Given the description of an element on the screen output the (x, y) to click on. 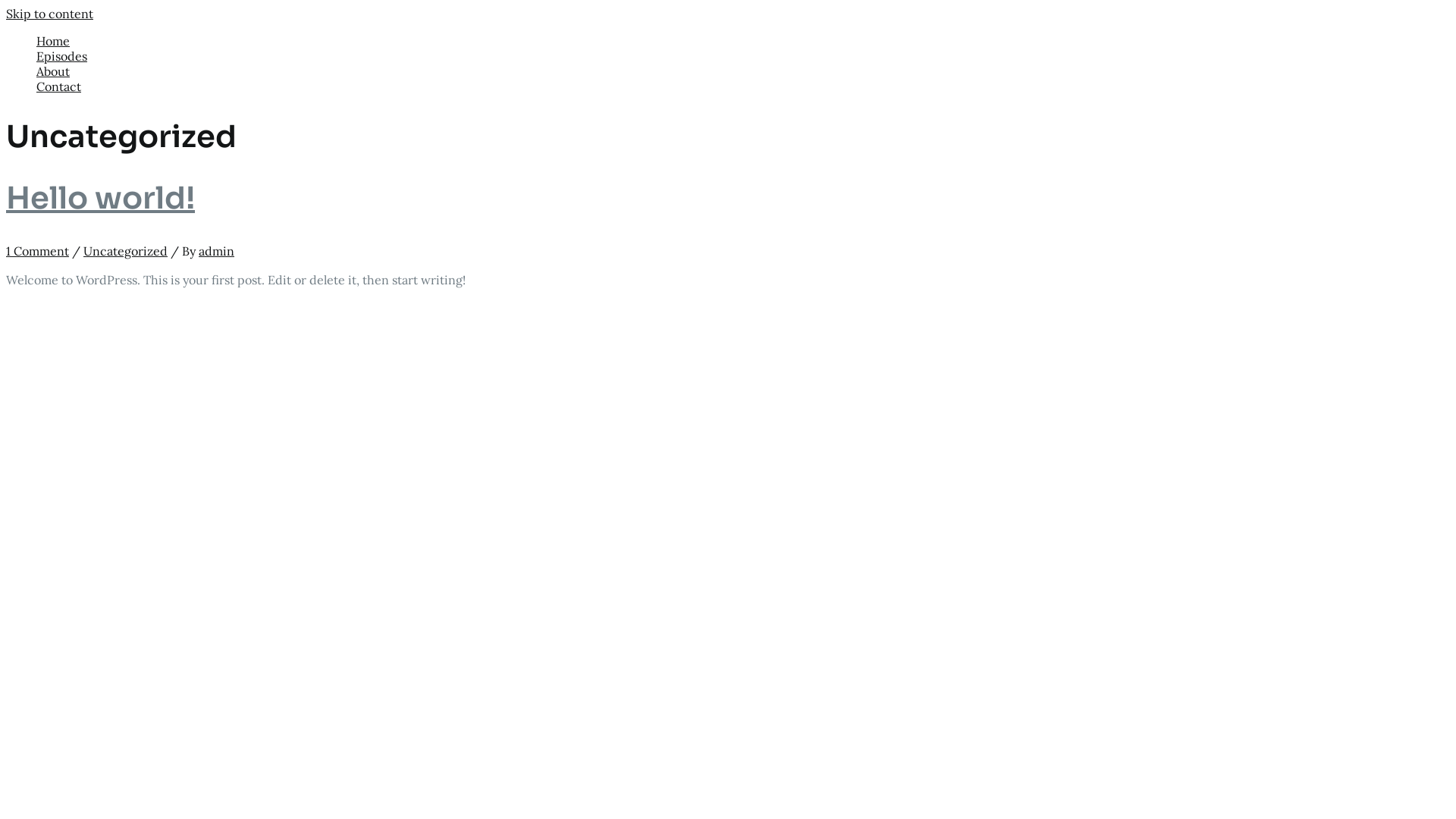
Contact Element type: text (742, 86)
Home Element type: text (742, 40)
Episodes Element type: text (742, 55)
Uncategorized Element type: text (125, 250)
admin Element type: text (216, 250)
1 Comment Element type: text (37, 250)
Hello world! Element type: text (100, 197)
Skip to content Element type: text (49, 13)
About Element type: text (742, 70)
